Given the description of an element on the screen output the (x, y) to click on. 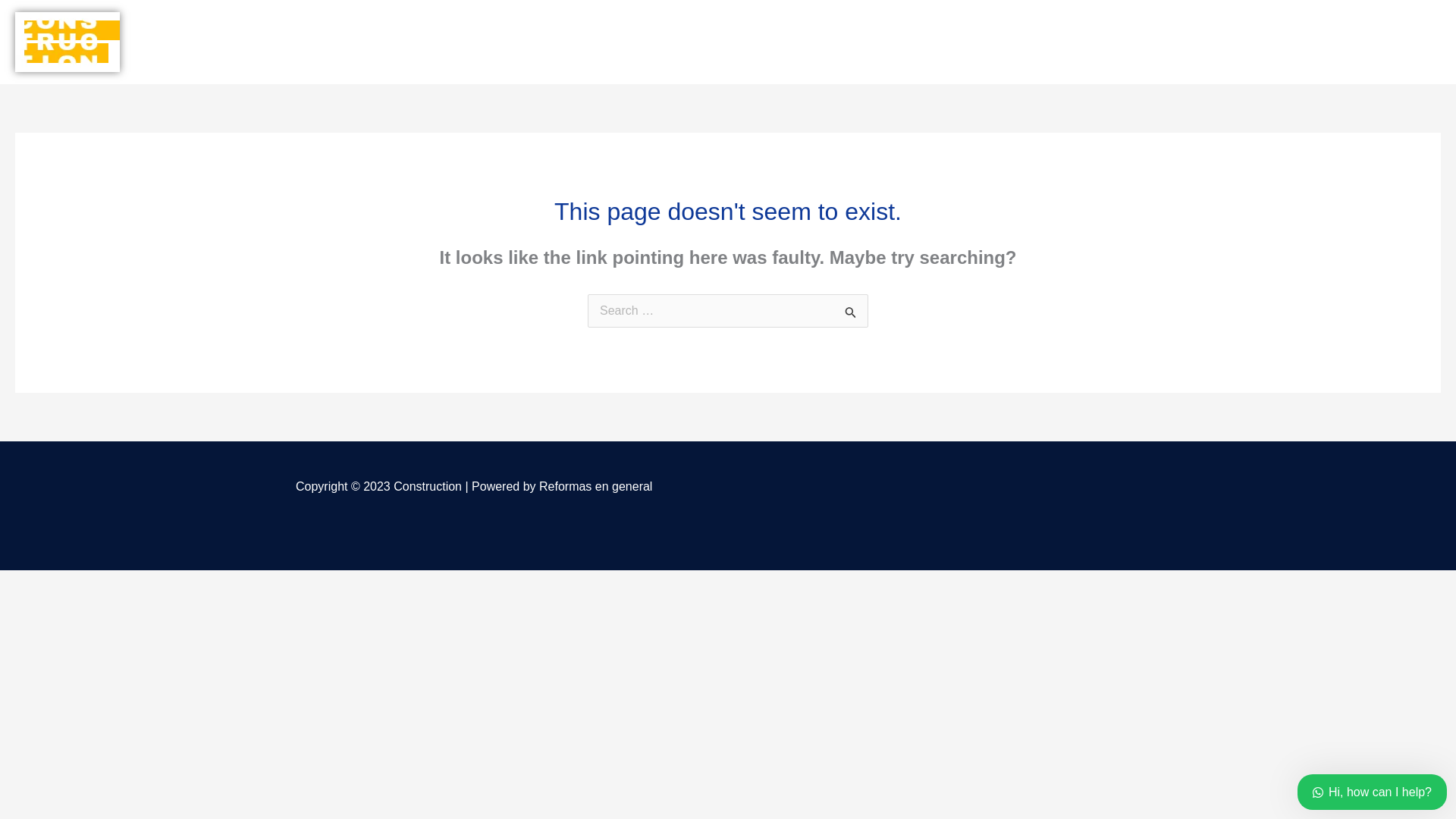
Contact (1278, 41)
Home (1022, 41)
Projects (1211, 41)
About (1149, 41)
Services (1086, 41)
